Given the description of an element on the screen output the (x, y) to click on. 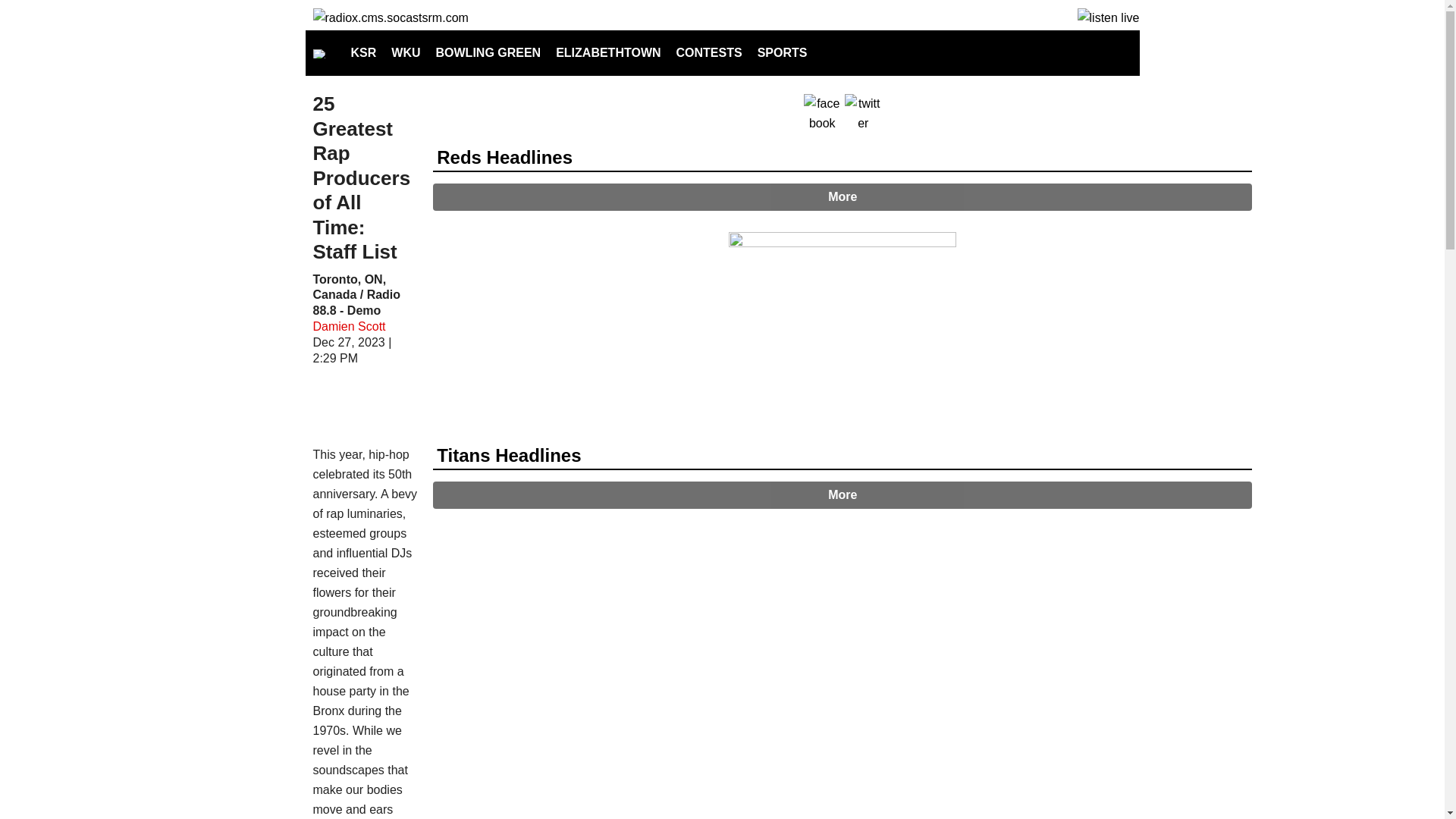
WKU (406, 53)
KSR (363, 53)
BOWLING GREEN (488, 53)
ELIZABETHTOWN (608, 53)
Damien Scott (349, 326)
CONTESTS (708, 53)
SPORTS (782, 53)
